Given the description of an element on the screen output the (x, y) to click on. 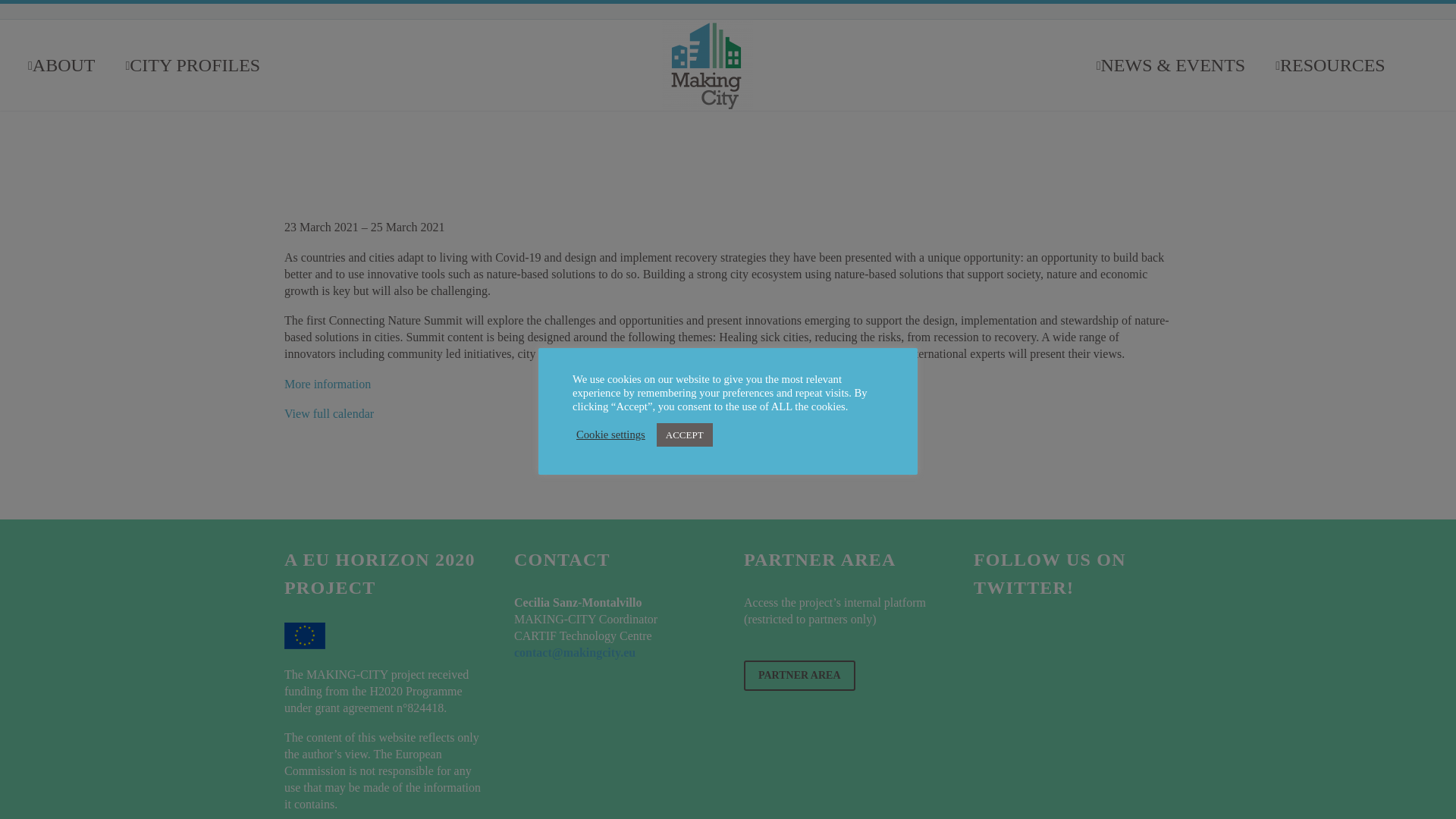
ABOUT (61, 64)
Partner area (800, 675)
View full calendar (328, 413)
Resources (1330, 64)
CITY PROFILES (193, 64)
More information (327, 383)
PARTNER AREA (800, 675)
RESOURCES (1330, 64)
